Given the description of an element on the screen output the (x, y) to click on. 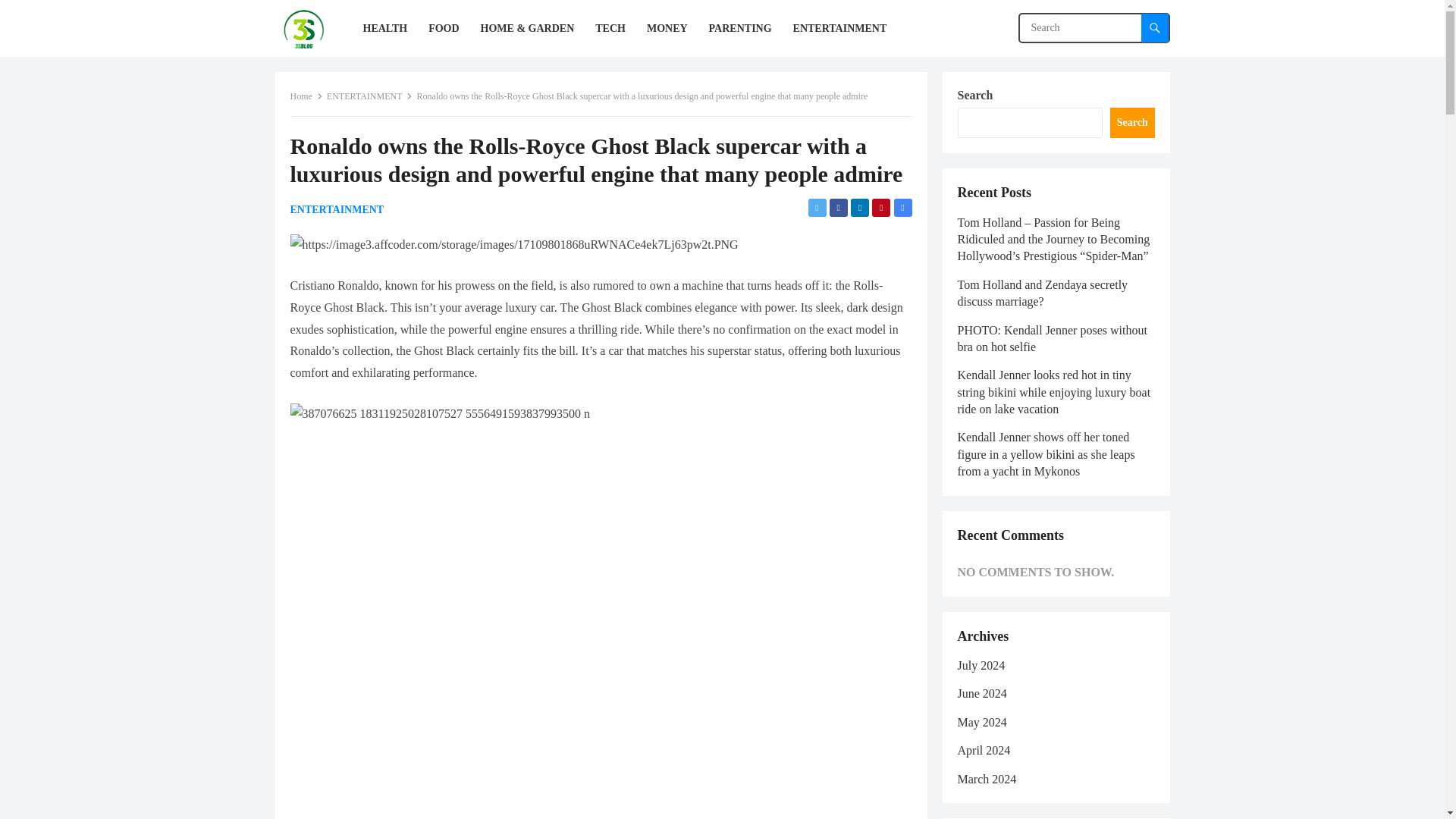
Home (305, 95)
ENTERTAINMENT (336, 209)
TECH (610, 28)
FOOD (443, 28)
ENTERTAINMENT (840, 28)
ENTERTAINMENT (369, 95)
PARENTING (740, 28)
HEALTH (384, 28)
MONEY (667, 28)
